Given the description of an element on the screen output the (x, y) to click on. 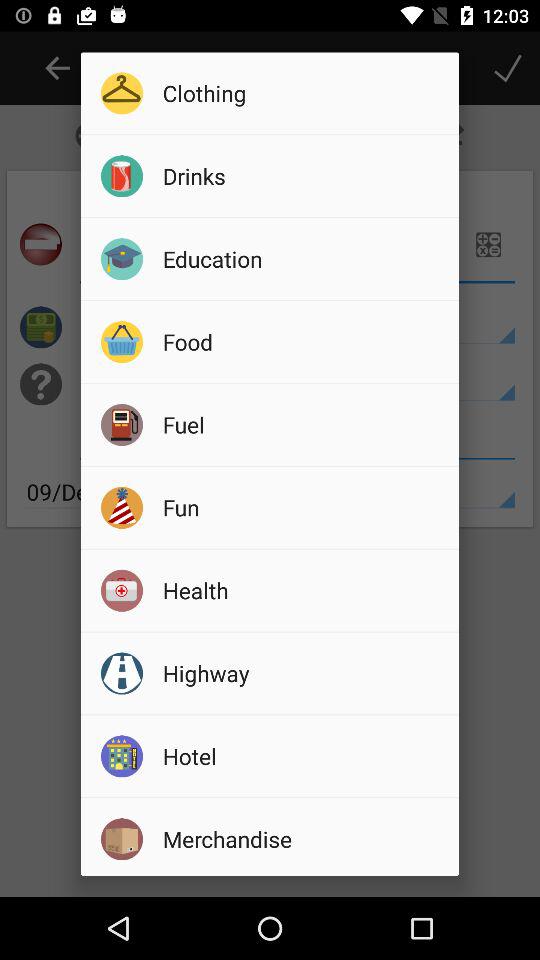
turn off the item above the fun item (303, 424)
